Given the description of an element on the screen output the (x, y) to click on. 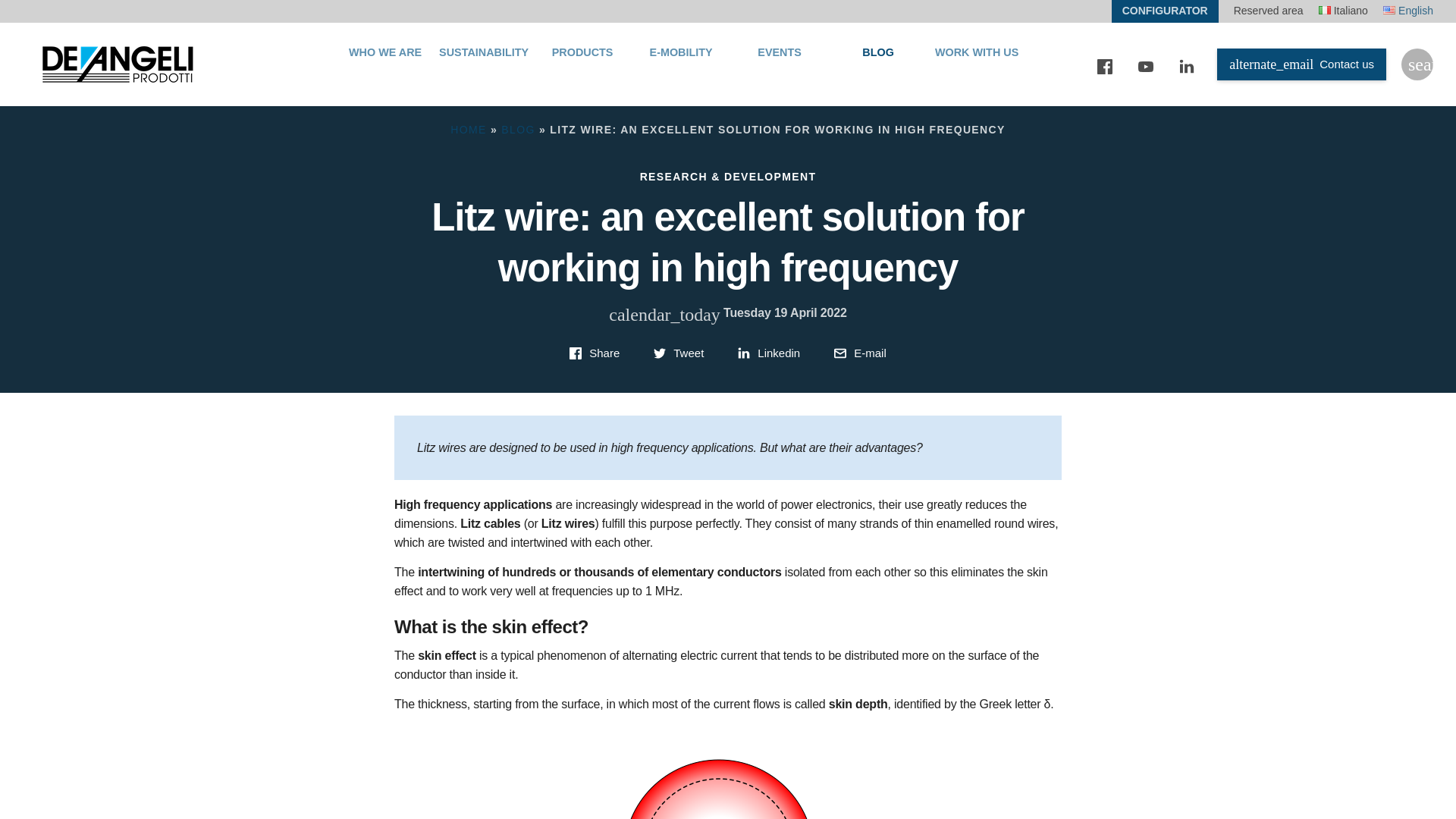
WHO WE ARE (384, 64)
Italiano (1343, 10)
PRODUCTS (581, 64)
WORK WITH US (976, 64)
E-MOBILITY (680, 64)
English (1407, 10)
EVENTS (779, 64)
CONFIGURATOR (1165, 10)
Reserved area (1268, 10)
SUSTAINABILITY (482, 64)
BLOG (877, 64)
